Given the description of an element on the screen output the (x, y) to click on. 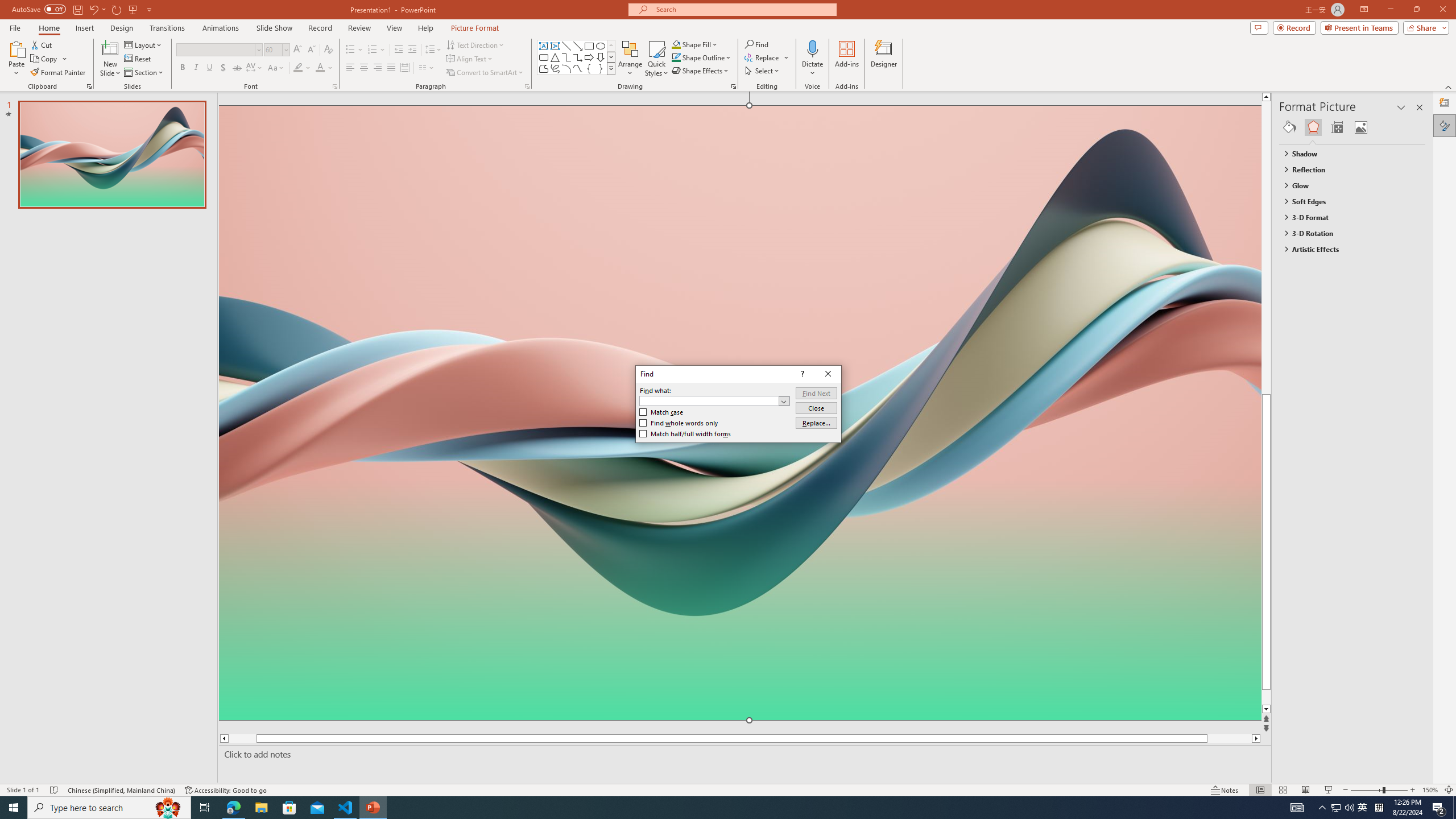
Format Picture (1444, 125)
Match case (661, 411)
